Given the description of an element on the screen output the (x, y) to click on. 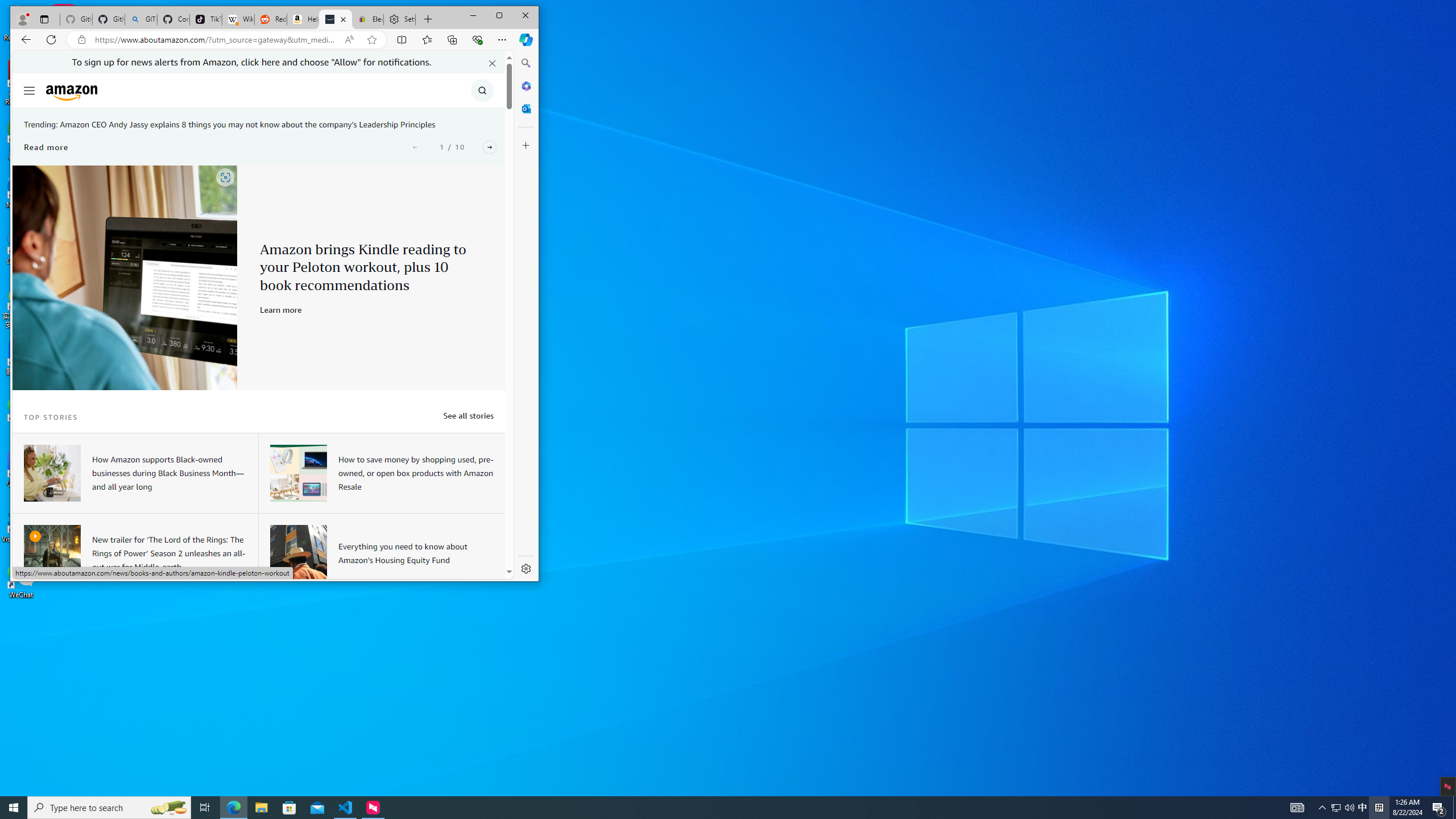
Previous (414, 146)
Notification Chevron (1322, 807)
AutomationID: 4105 (1297, 807)
Type here to search (108, 807)
